Given the description of an element on the screen output the (x, y) to click on. 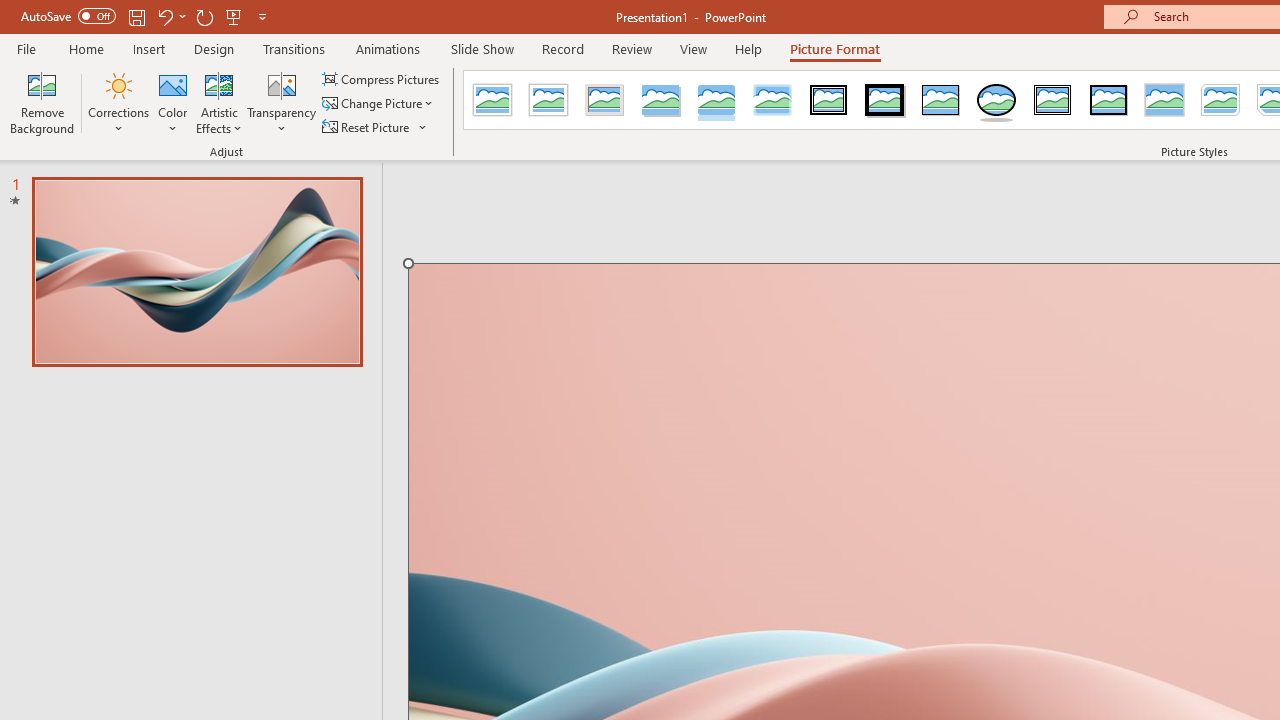
Moderate Frame, Black (1108, 100)
Review (631, 48)
Rounded Diagonal Corner, White (1220, 100)
